Given the description of an element on the screen output the (x, y) to click on. 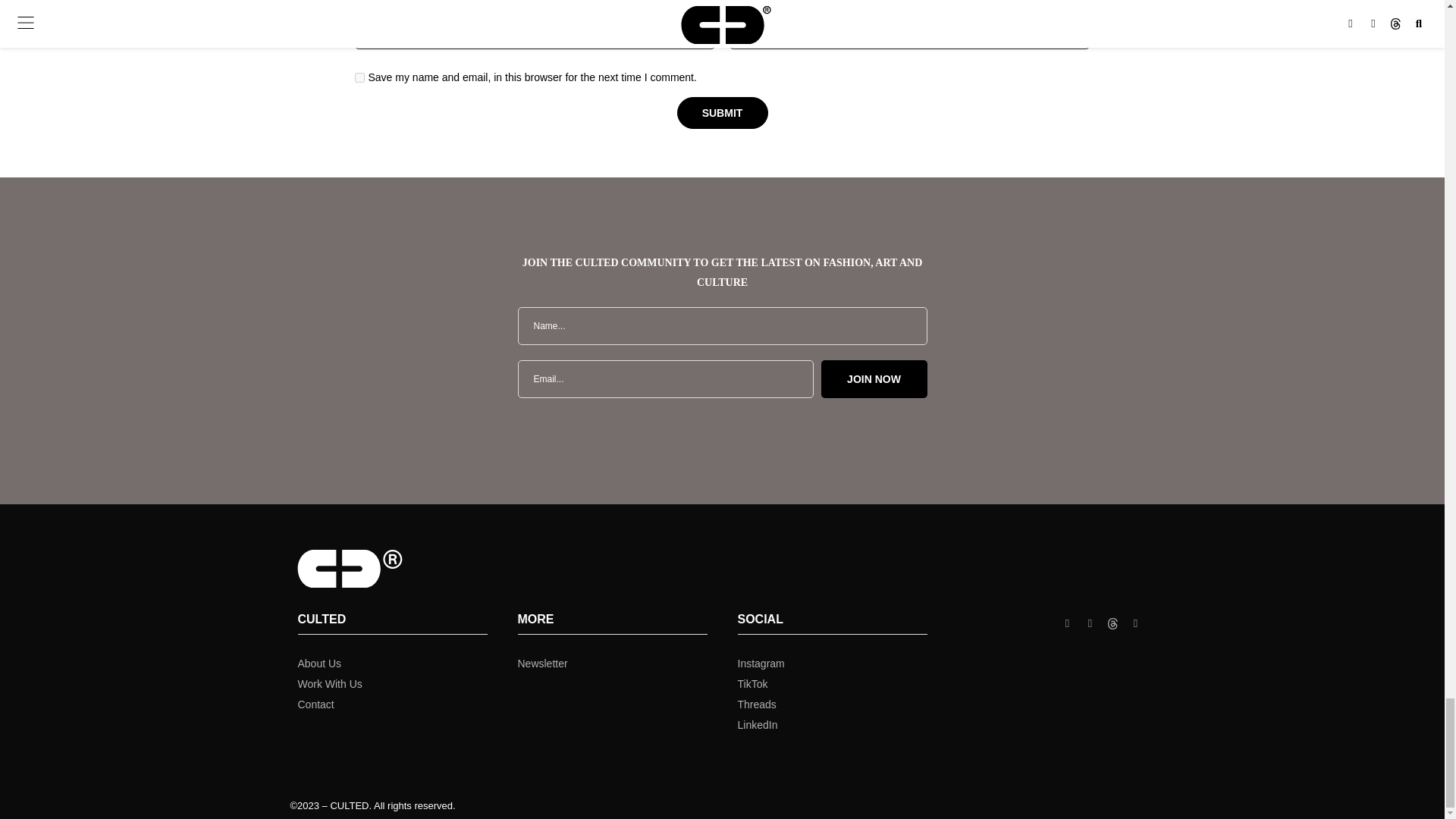
yes (360, 77)
JOIN NOW (873, 379)
Submit (722, 113)
